Given the description of an element on the screen output the (x, y) to click on. 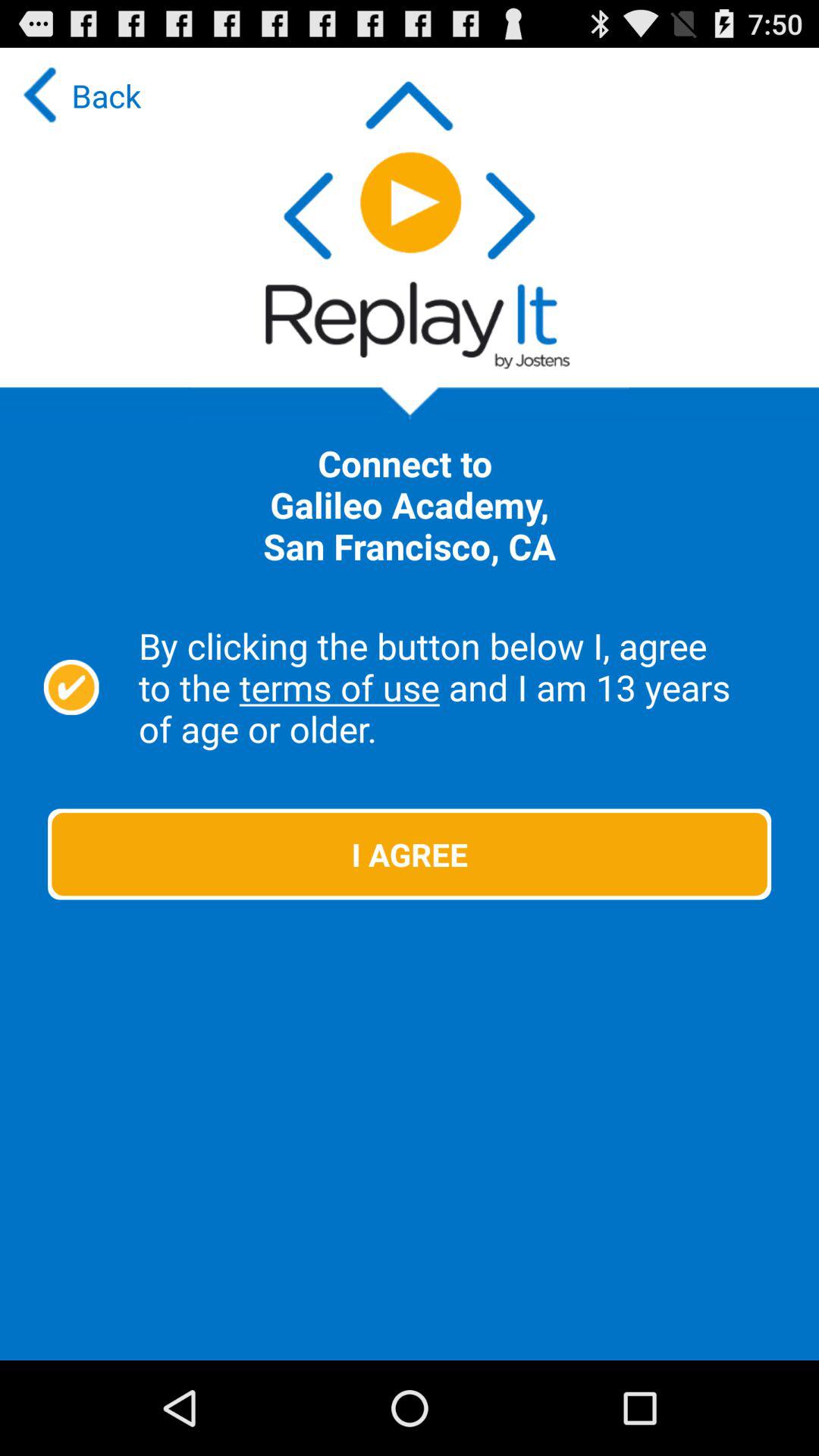
select the checkbox on the left (70, 686)
